Given the description of an element on the screen output the (x, y) to click on. 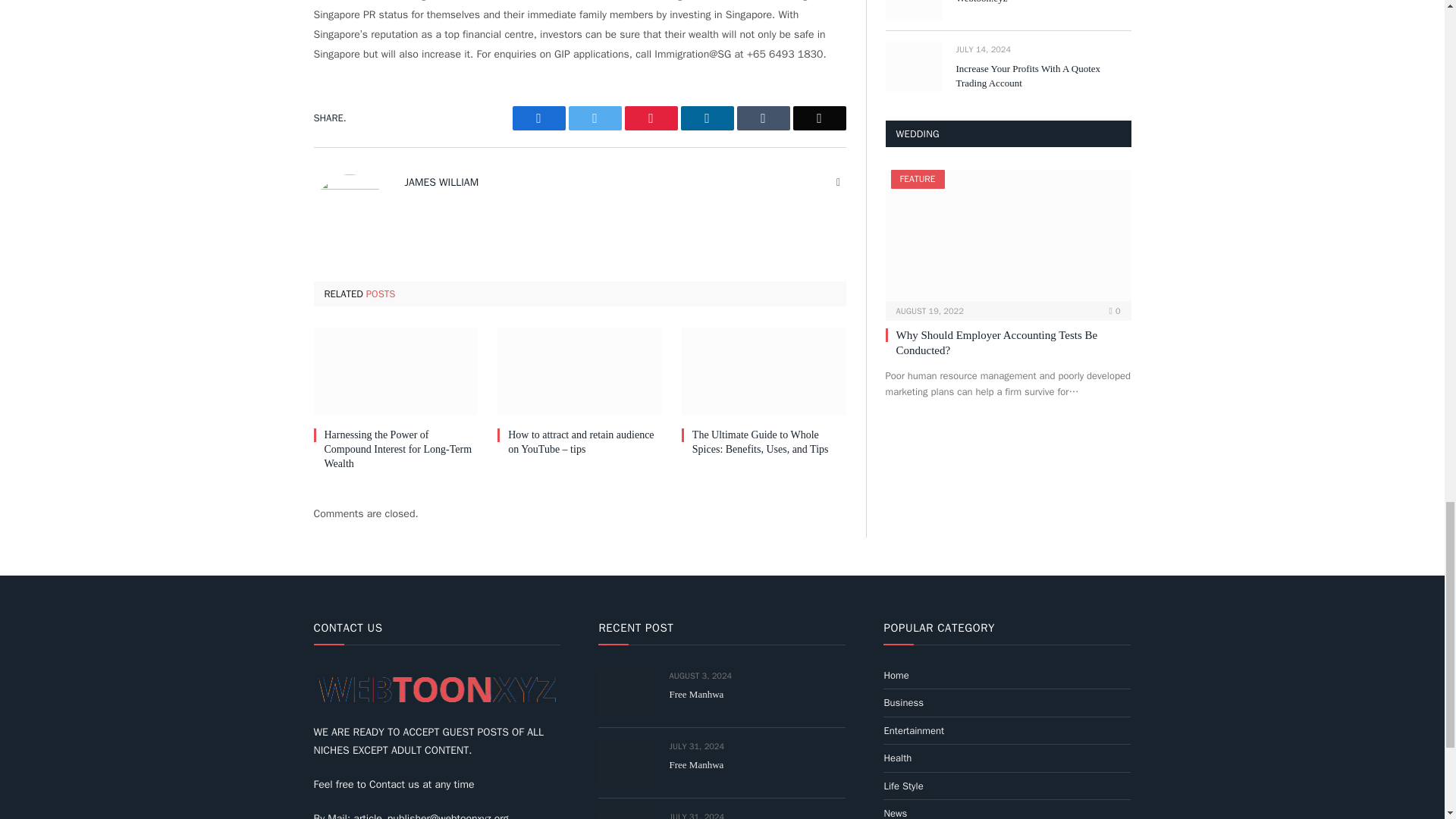
Share on Facebook (539, 118)
